Given the description of an element on the screen output the (x, y) to click on. 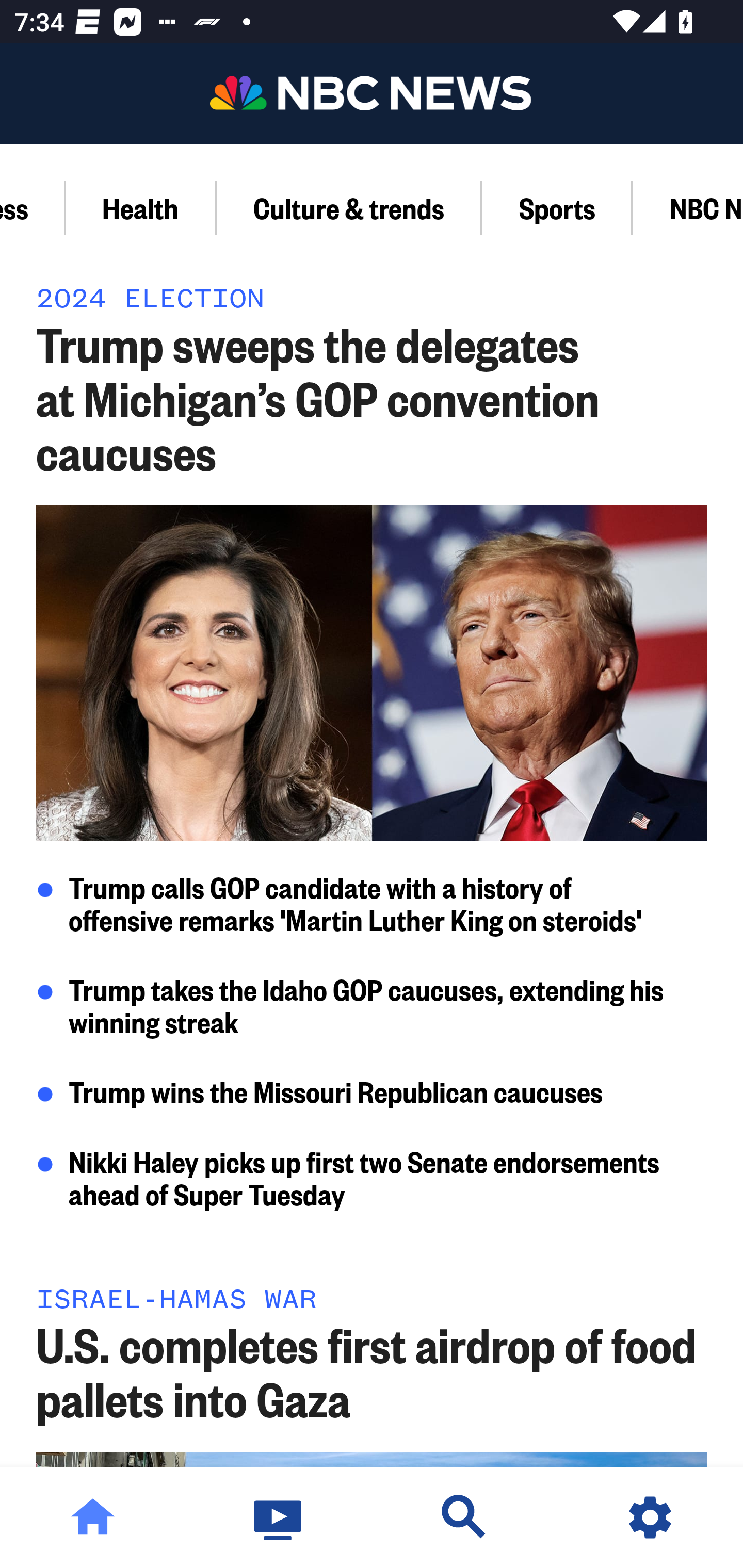
Health Section,Health (141, 207)
Culture & trends Section,Culture & trends (349, 207)
Sports Section,Sports (557, 207)
Watch (278, 1517)
Discover (464, 1517)
Settings (650, 1517)
